Given the description of an element on the screen output the (x, y) to click on. 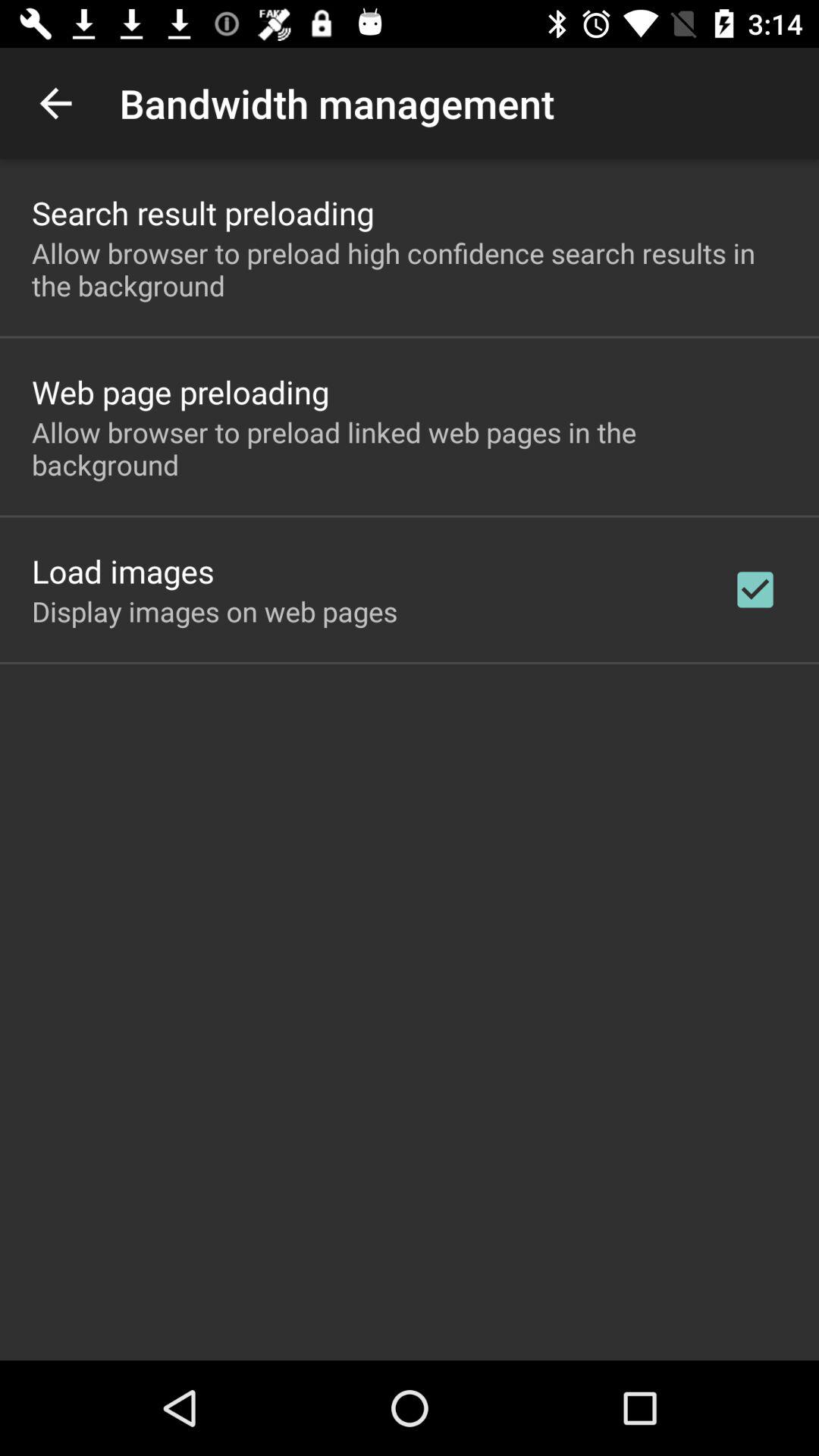
launch the item below allow browser to icon (180, 391)
